Given the description of an element on the screen output the (x, y) to click on. 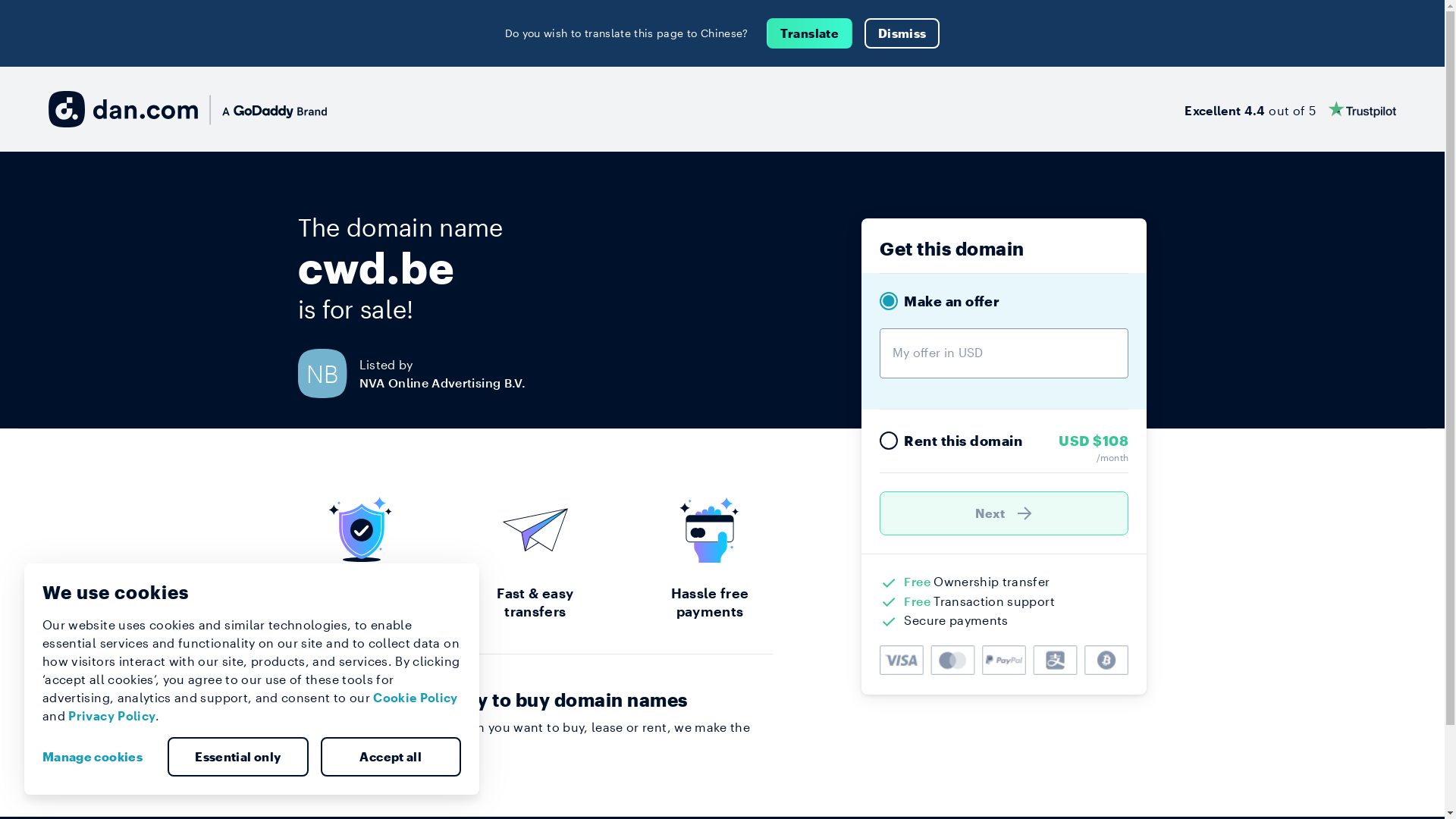
Cookie Policy Element type: text (415, 697)
Privacy Policy Element type: text (111, 715)
Accept all Element type: text (390, 756)
Translate Element type: text (809, 33)
Excellent 4.4 out of 5 Element type: text (1290, 109)
Essential only Element type: text (237, 756)
Dismiss Element type: text (901, 33)
Manage cookies Element type: text (98, 756)
Next
) Element type: text (1003, 513)
